Given the description of an element on the screen output the (x, y) to click on. 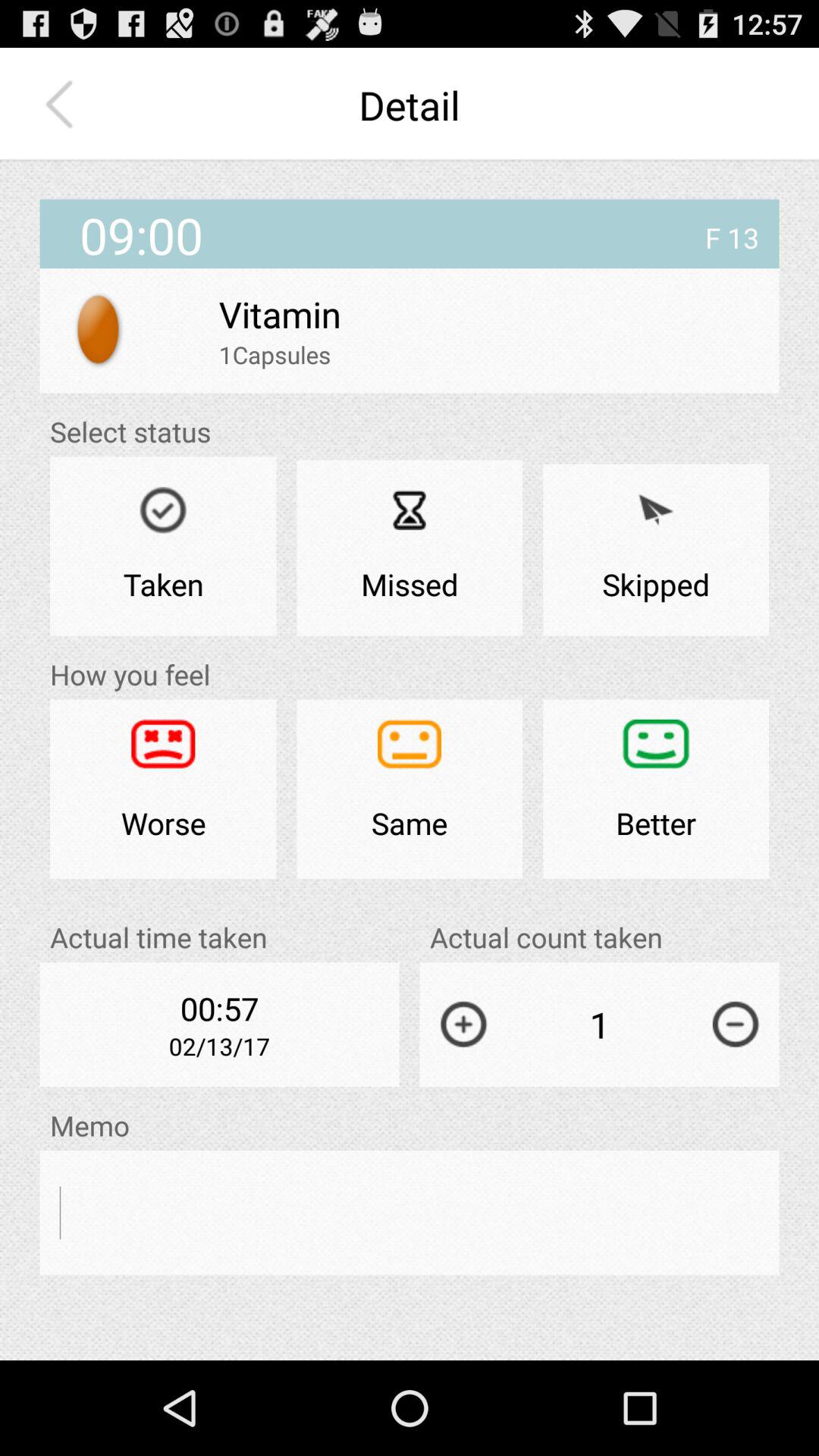
turn on better icon (655, 788)
